Given the description of an element on the screen output the (x, y) to click on. 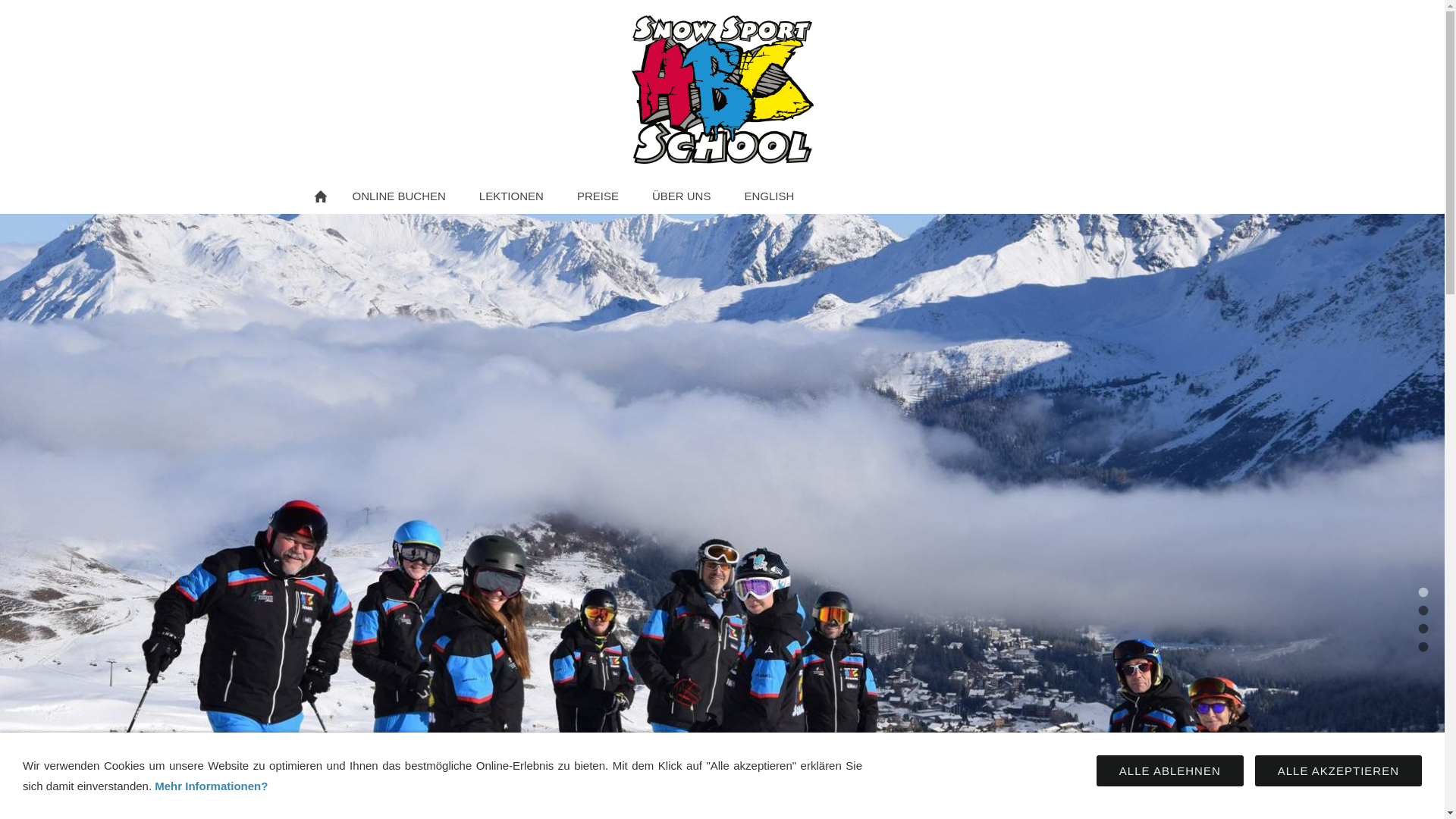
Mehr Informationen? Element type: text (210, 785)
ALLE AKZEPTIEREN Element type: text (1338, 770)
ENGLISH Element type: text (768, 195)
PREISE Element type: text (597, 195)
ALLE ABLEHNEN Element type: text (1169, 770)
ONLINE BUCHEN Element type: text (398, 195)
LEKTIONEN Element type: text (511, 195)
